Given the description of an element on the screen output the (x, y) to click on. 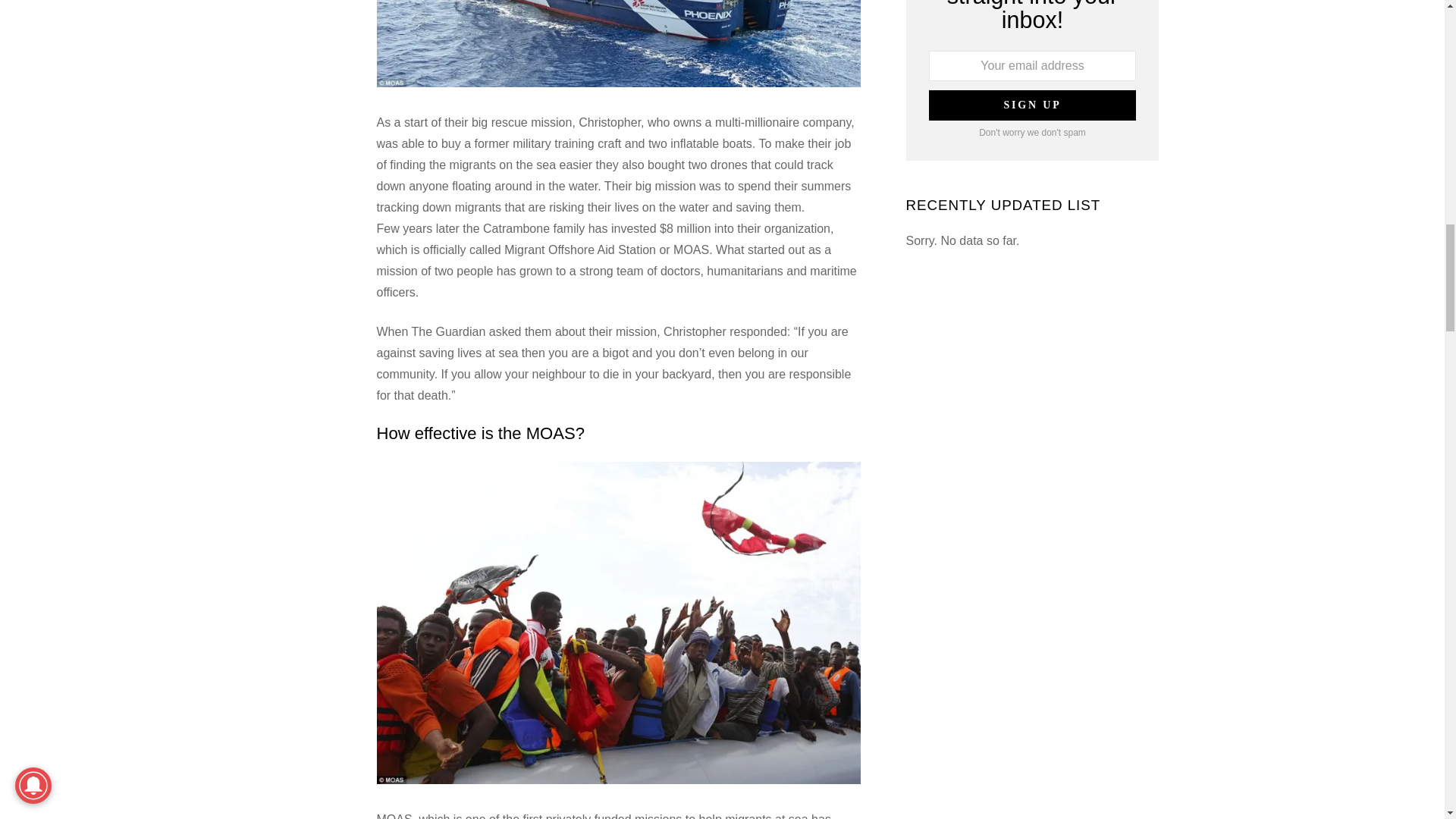
Sign up (1031, 105)
